Given the description of an element on the screen output the (x, y) to click on. 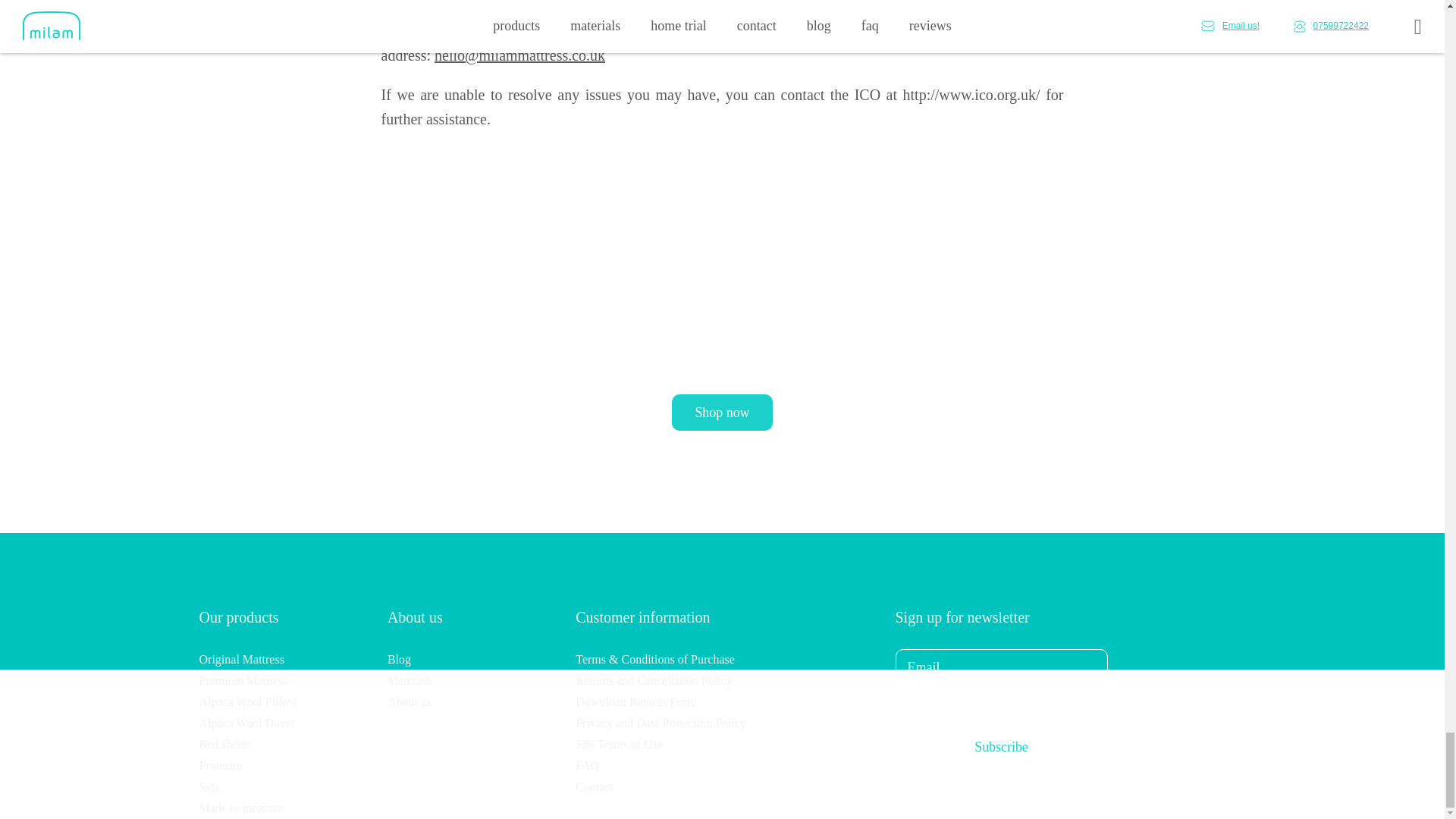
Materials (409, 680)
Alpaca Wool Pillow (247, 701)
Subscribe (1000, 746)
Sets (208, 786)
Contact (593, 786)
Made to measure (240, 807)
Download Returns Form (635, 701)
About us (408, 701)
Site Terms of Use (618, 744)
FAQ (586, 765)
